Given the description of an element on the screen output the (x, y) to click on. 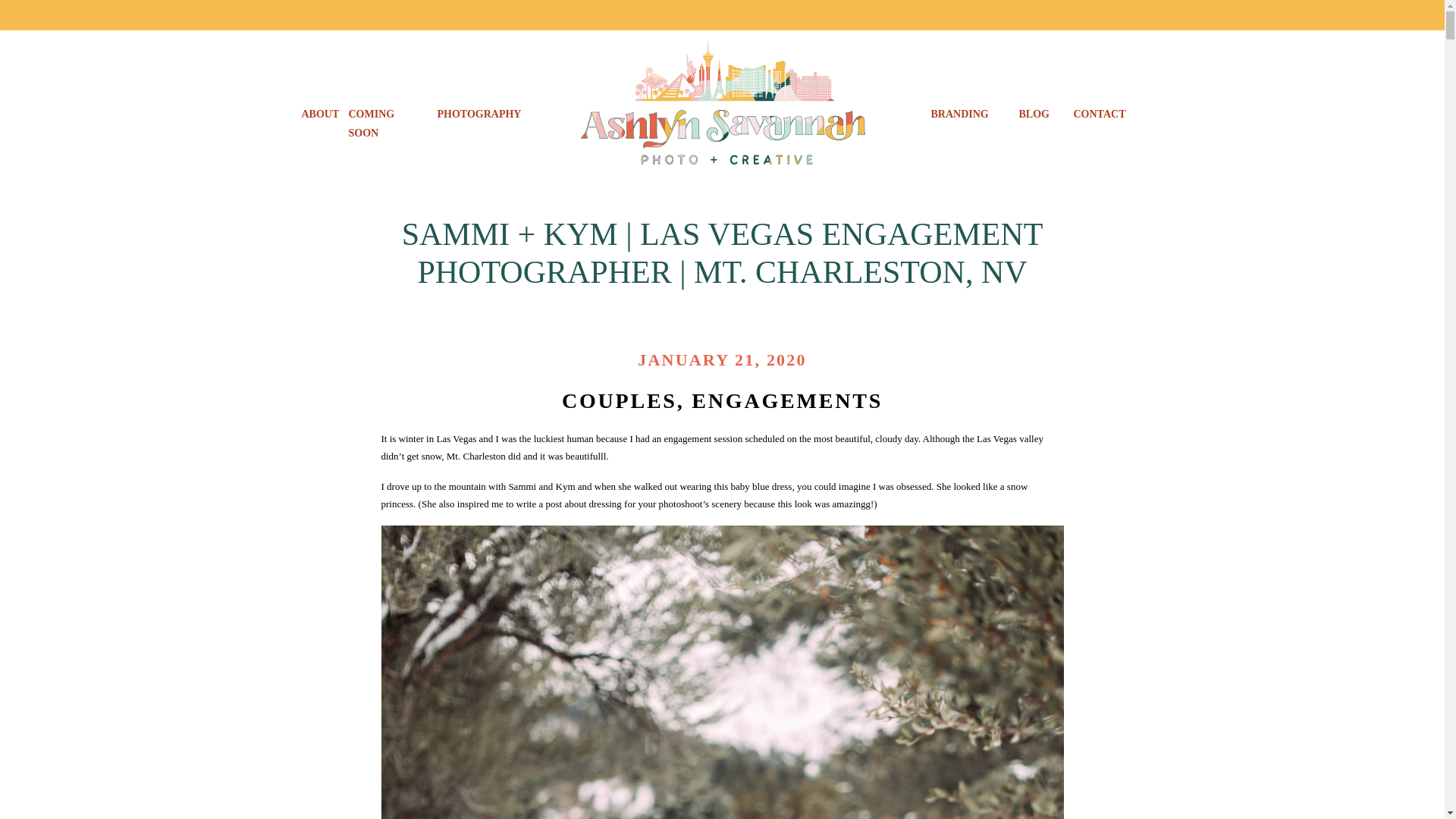
ENGAGEMENTS (786, 366)
COMING SOON (387, 114)
CONTACT (1101, 114)
ABOUT (318, 114)
COUPLES (619, 366)
PHOTOGRAPHY (477, 114)
BLOG (1032, 114)
BRANDING (962, 114)
